Given the description of an element on the screen output the (x, y) to click on. 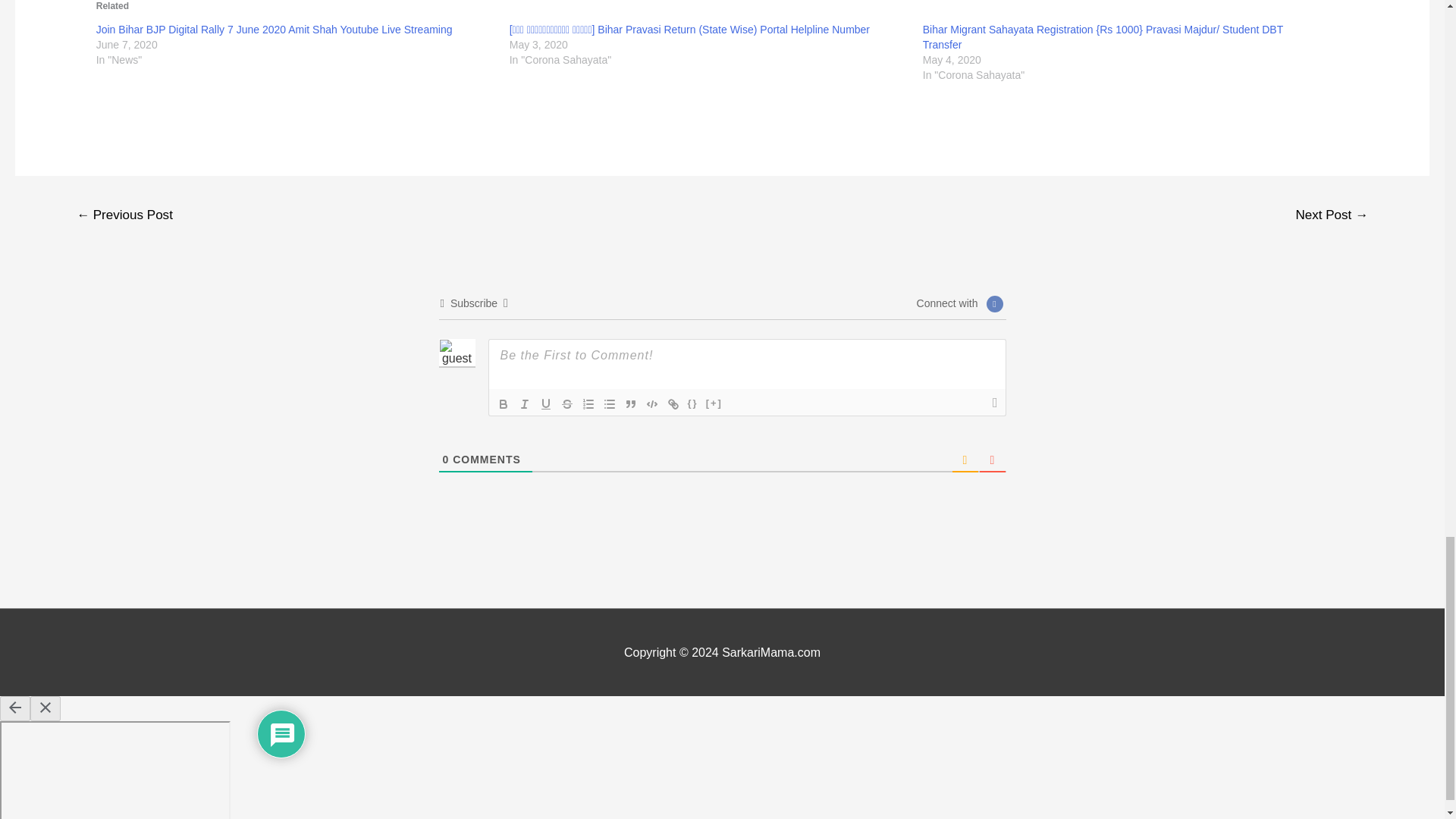
bullet (609, 403)
Italic (524, 403)
Strike (567, 403)
ordered (588, 403)
Bold (503, 403)
Ordered List (588, 403)
Underline (545, 403)
